Given the description of an element on the screen output the (x, y) to click on. 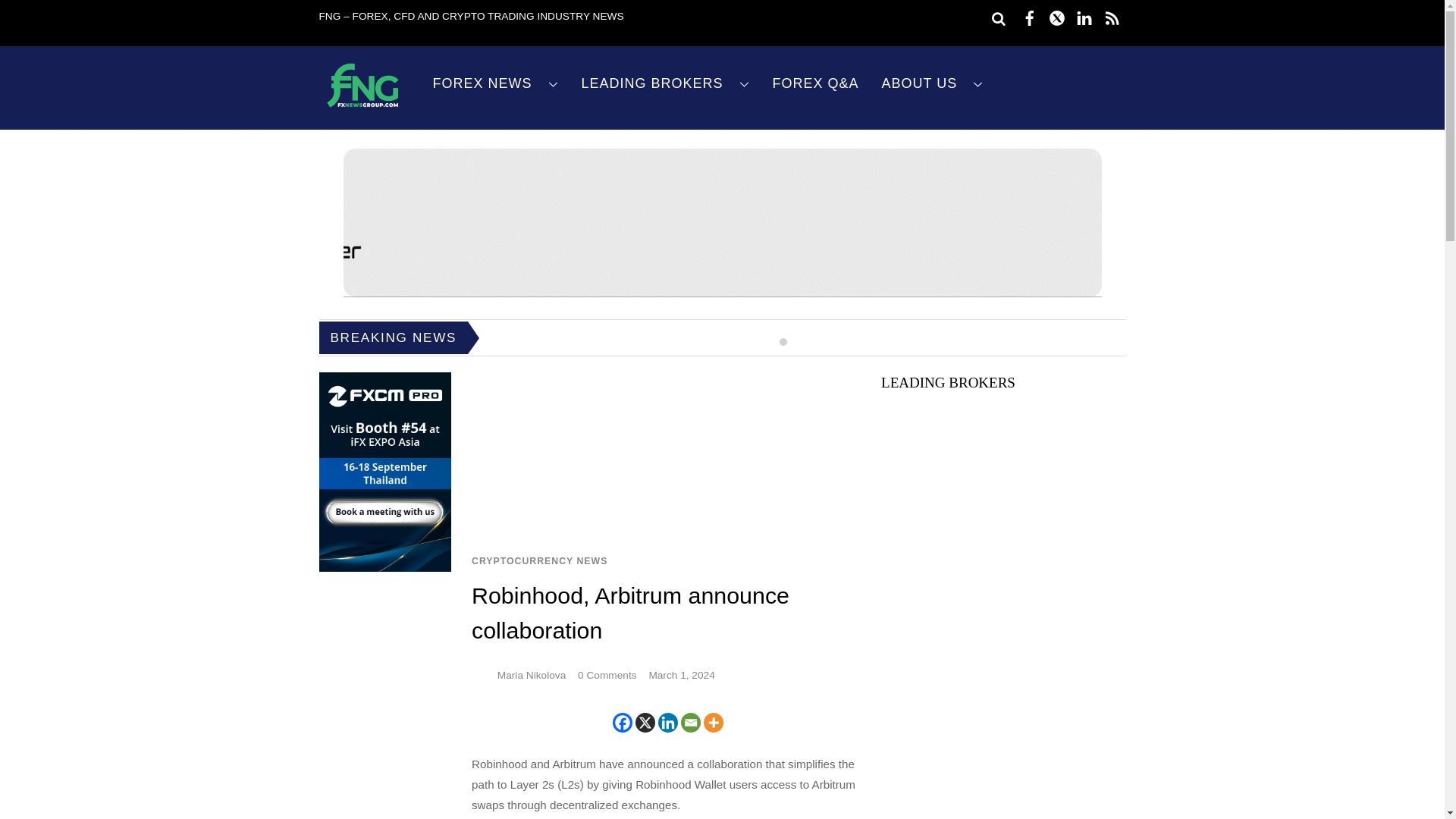
FOREX NEWS (496, 83)
Linkedin (668, 722)
Facebook (621, 722)
More (713, 722)
FX News Group (362, 108)
LEADING BROKERS (665, 83)
X (644, 722)
Email (690, 722)
